Given the description of an element on the screen output the (x, y) to click on. 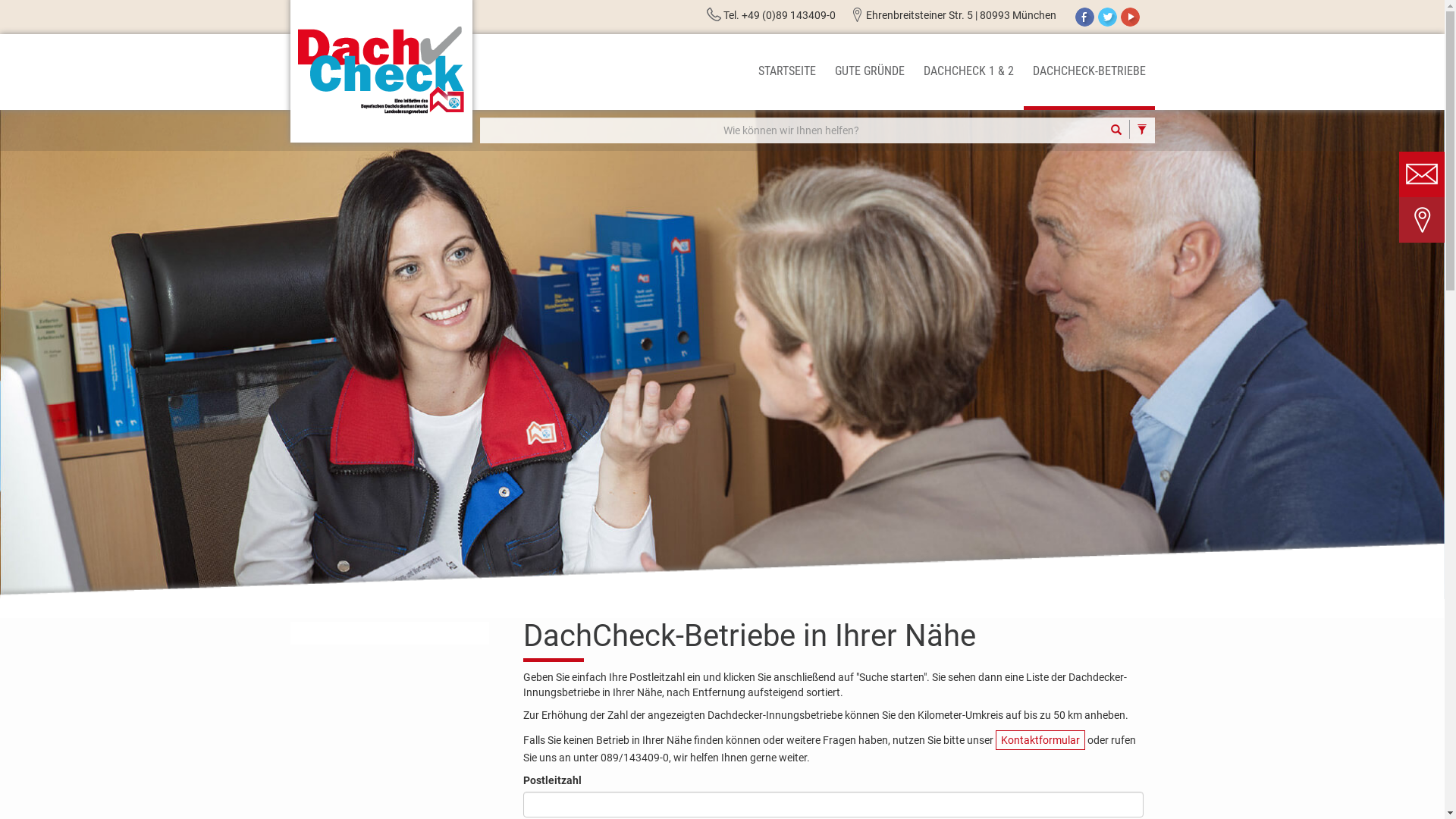
Facebook Element type: text (1084, 16)
Kontaktformular Element type: text (1040, 739)
STARTSEITE Element type: text (787, 71)
Twitter Element type: text (1107, 16)
DACHCHECK 1 & 2 Element type: text (968, 71)
DACHCHECK-BETRIEBE Element type: text (1088, 71)
YouTube Element type: text (1129, 16)
Dachcheck Element type: hover (380, 69)
